Given the description of an element on the screen output the (x, y) to click on. 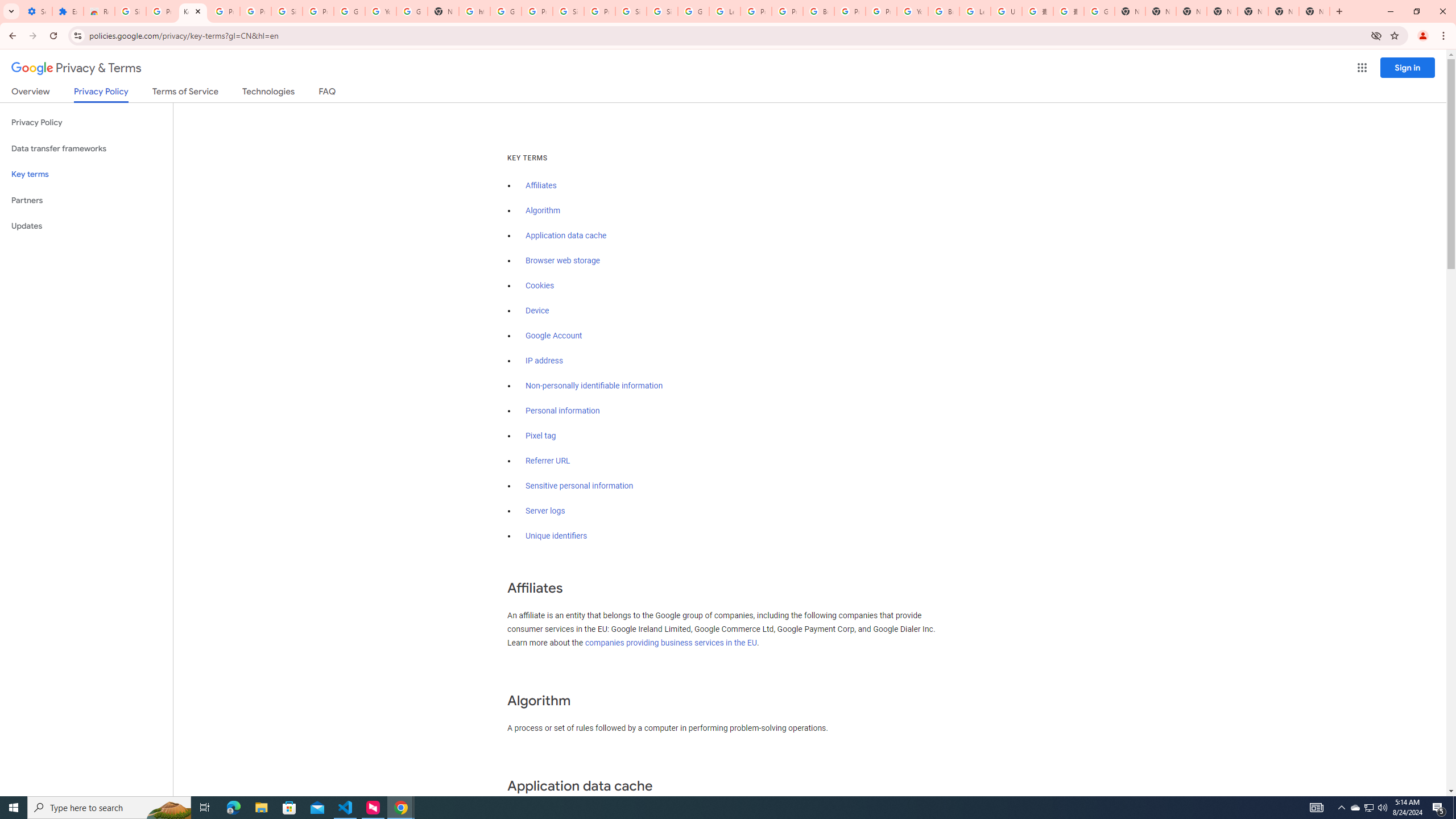
Application data cache (566, 235)
Sign in - Google Accounts (662, 11)
Pixel tag (540, 435)
